Given the description of an element on the screen output the (x, y) to click on. 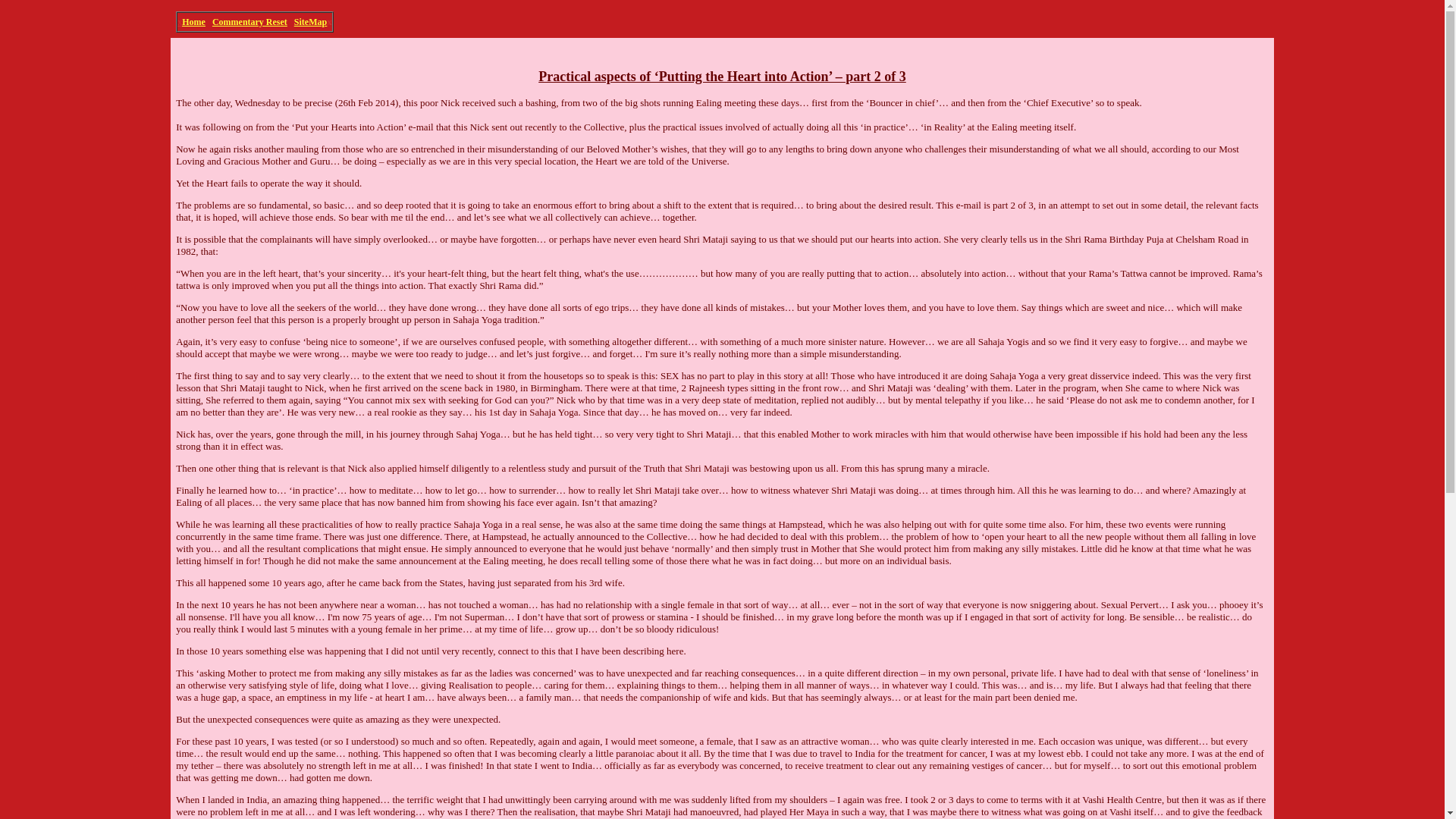
Home (193, 21)
Commentary Reset (249, 21)
SiteMap (310, 21)
